Given the description of an element on the screen output the (x, y) to click on. 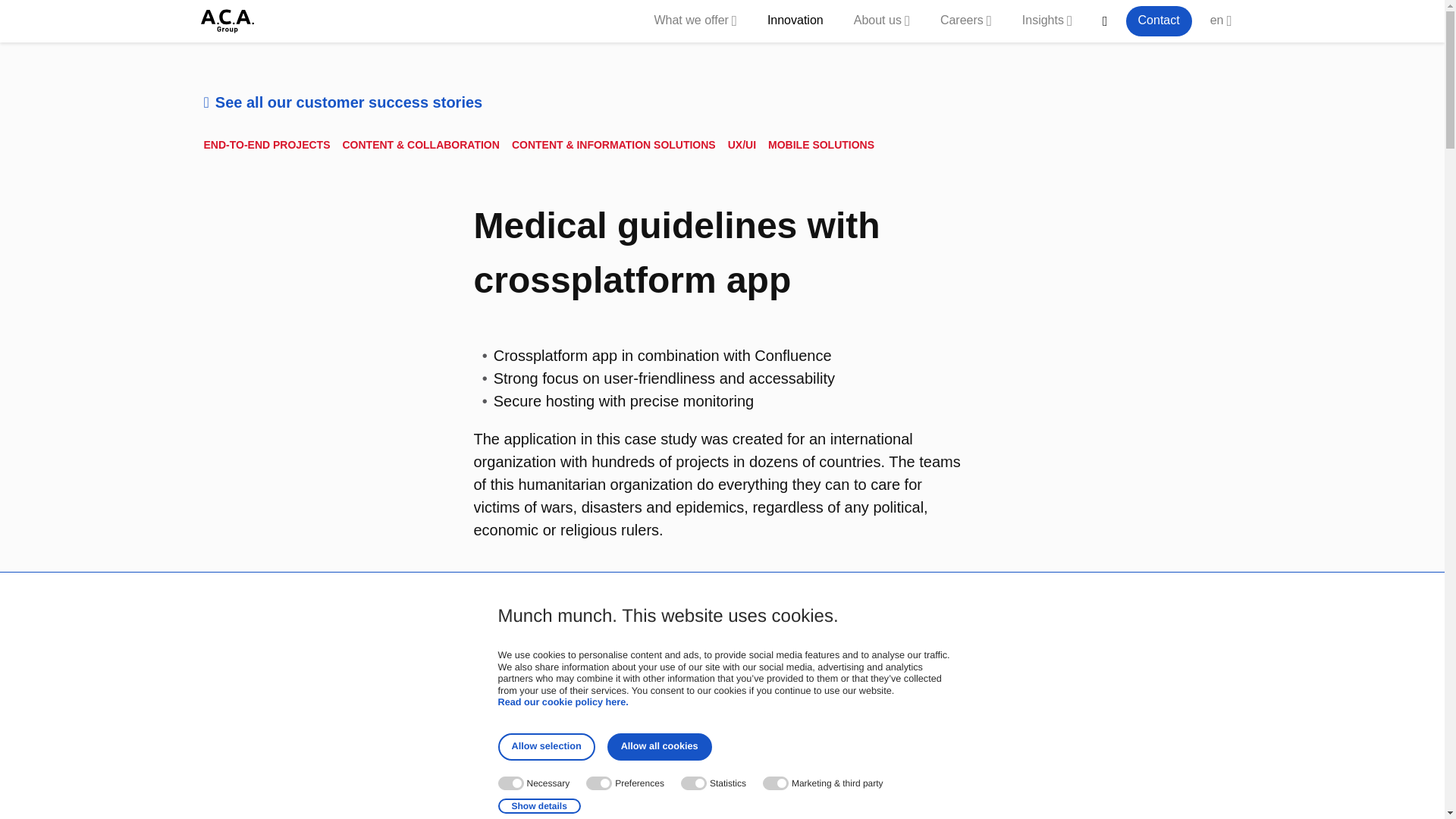
on (509, 783)
Read our cookie policy here. (562, 702)
on (598, 783)
on (693, 783)
Allow all cookies (659, 746)
Allow selection (545, 746)
Show details (538, 806)
on (775, 783)
